Given the description of an element on the screen output the (x, y) to click on. 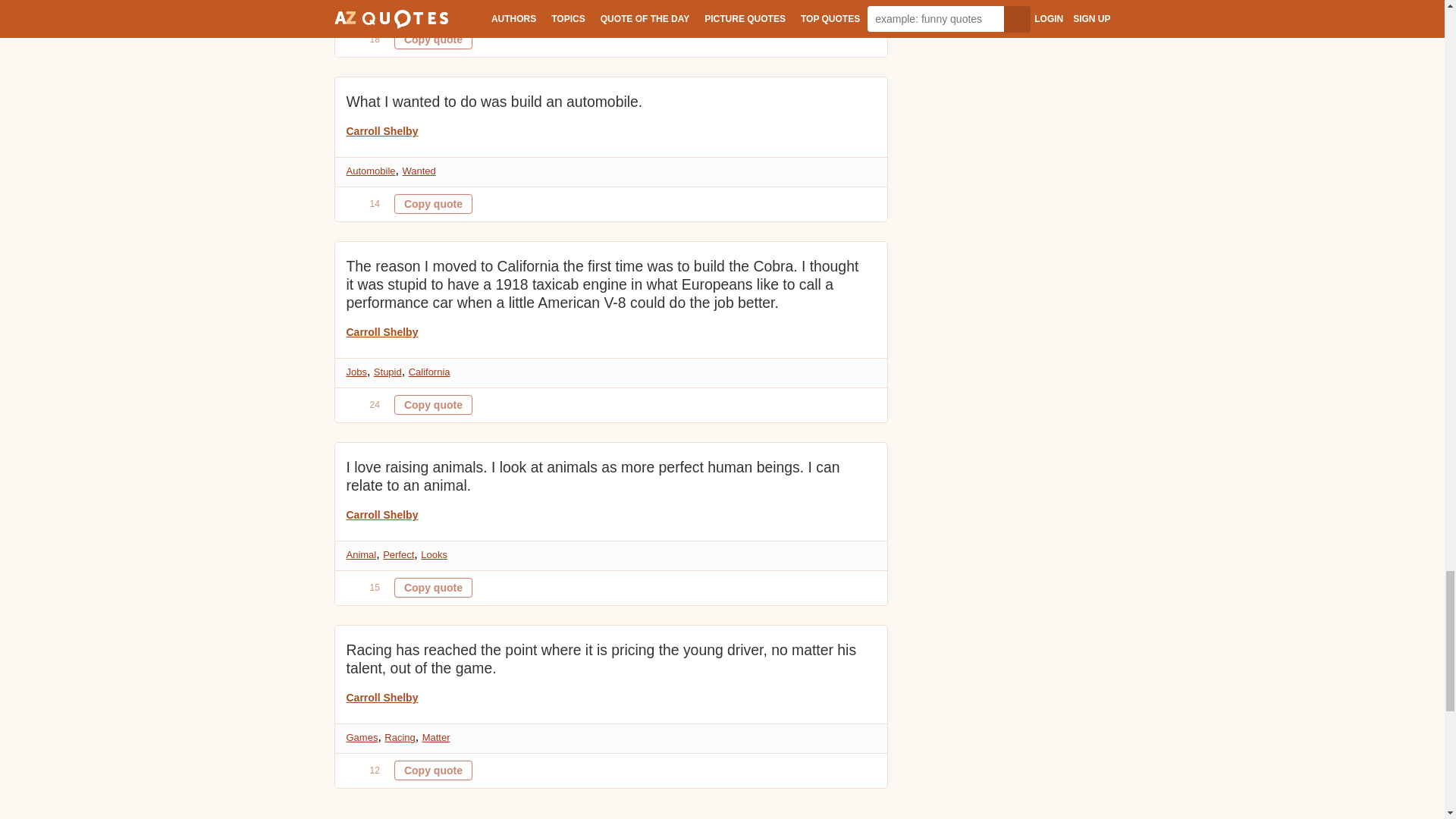
Quote is copied (432, 39)
Quote is copied (432, 587)
Quote is copied (432, 770)
Quote is copied (432, 203)
Quote is copied (432, 404)
